Given the description of an element on the screen output the (x, y) to click on. 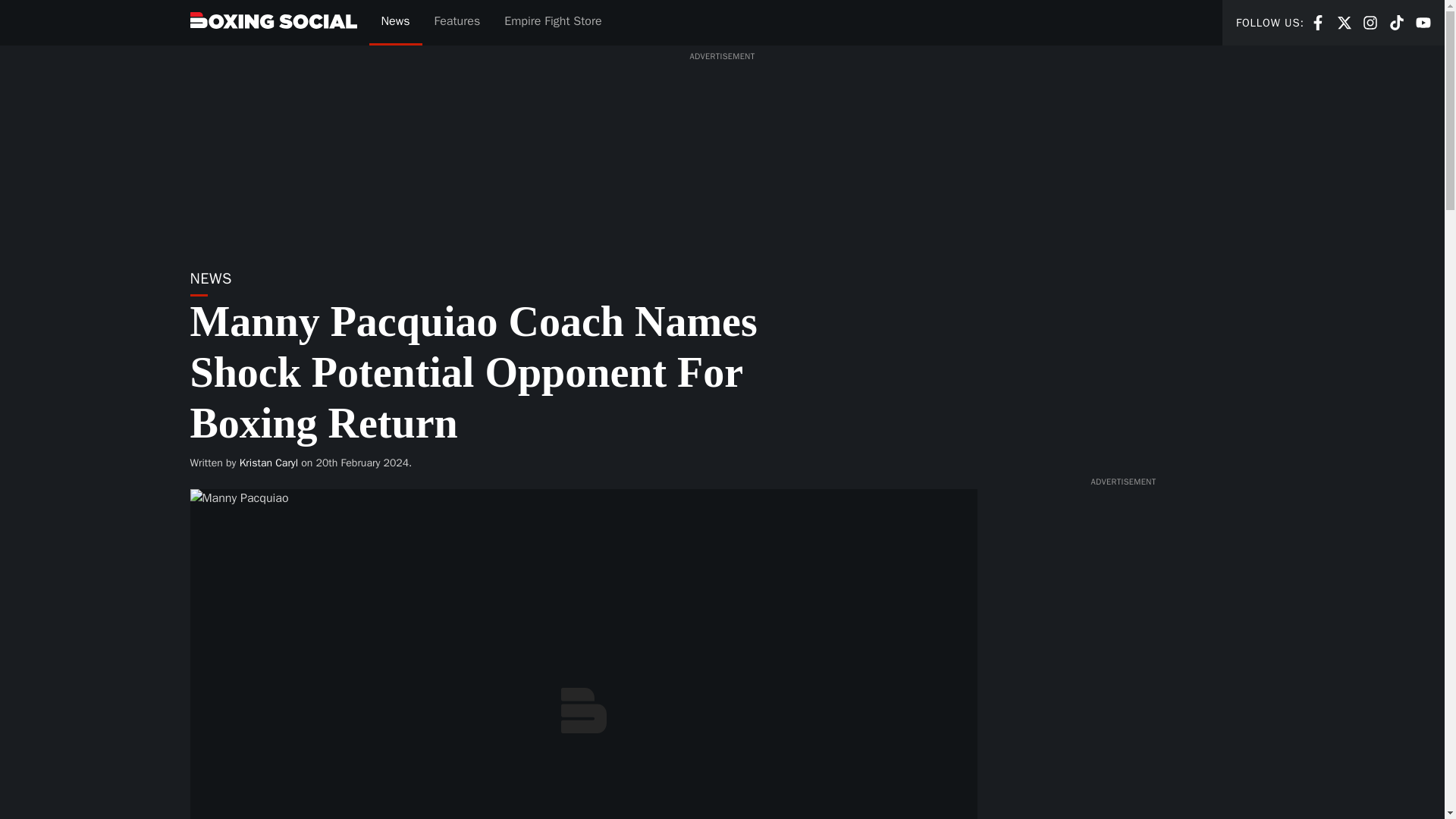
TIKTOK (1397, 22)
Kristan Caryl (269, 462)
X (1369, 21)
News (1423, 21)
INSTAGRAM (1344, 22)
Empire Fight Store (1344, 21)
